Given the description of an element on the screen output the (x, y) to click on. 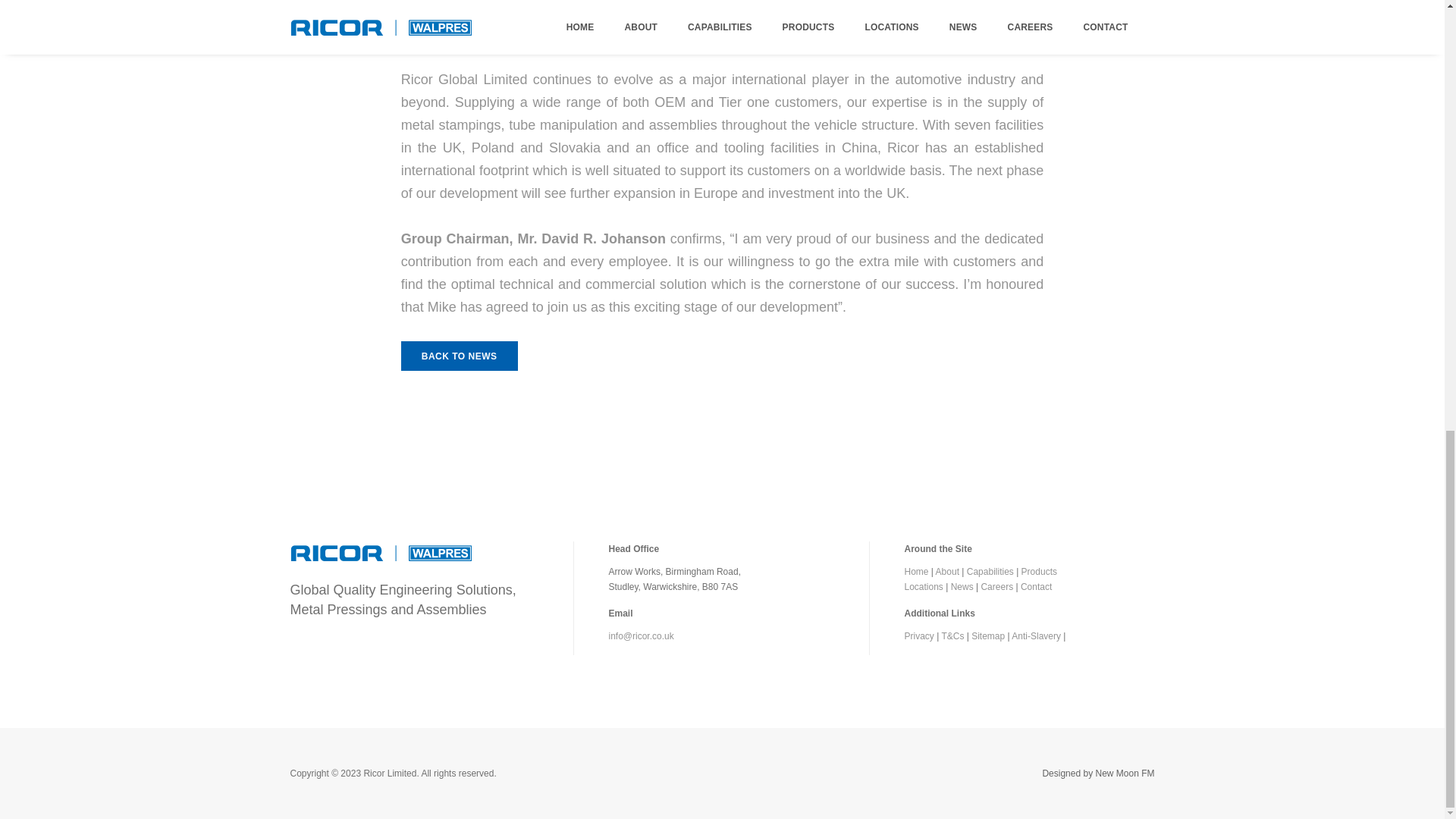
Designed by New Moon FM (1098, 773)
About (947, 571)
Sitemap (987, 635)
Home (916, 571)
Capabilities (989, 571)
Locations (923, 586)
BACK TO NEWS (459, 356)
Anti-Slavery (1036, 635)
Privacy (918, 635)
Products (1039, 571)
